Given the description of an element on the screen output the (x, y) to click on. 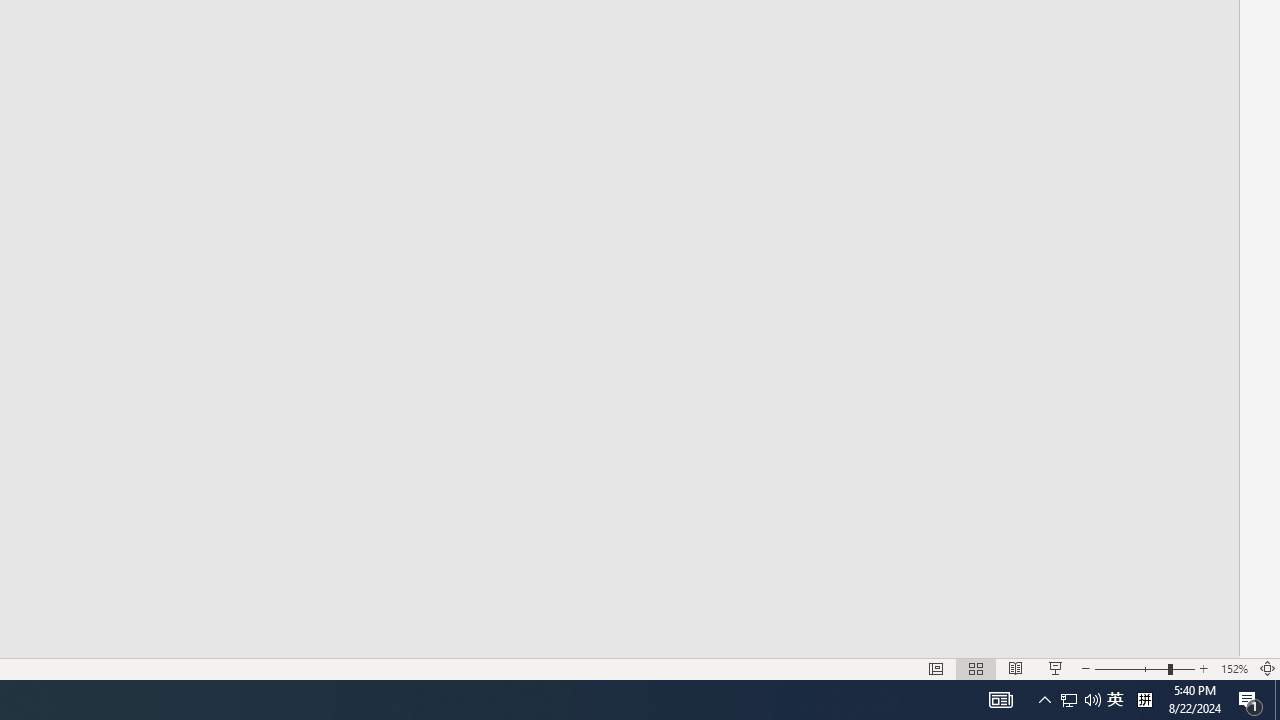
Zoom 152% (1234, 668)
